Given the description of an element on the screen output the (x, y) to click on. 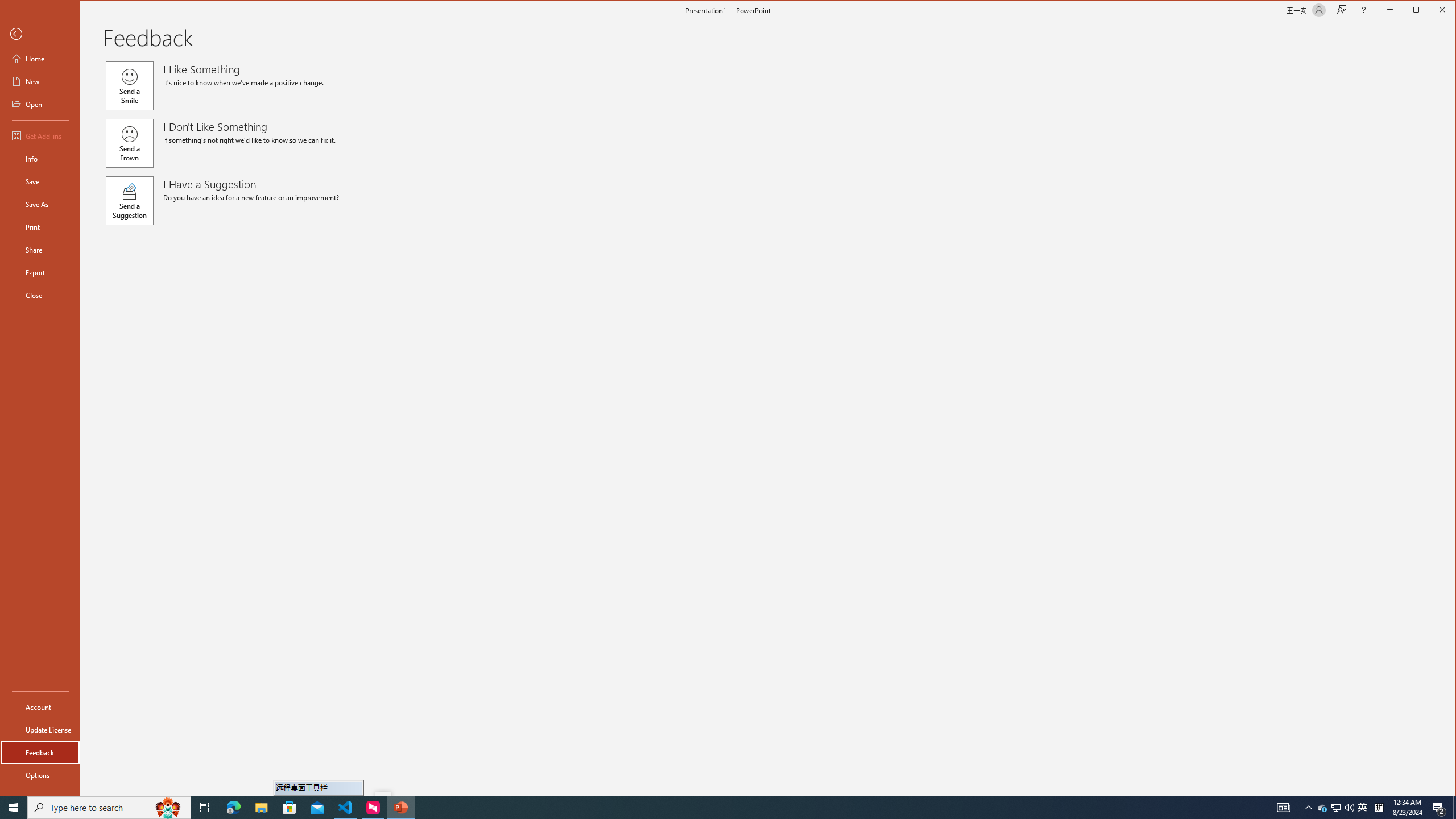
Send a Frown (129, 142)
User Promoted Notification Area (1336, 807)
Show desktop (1454, 807)
Running applications (700, 807)
